Given the description of an element on the screen output the (x, y) to click on. 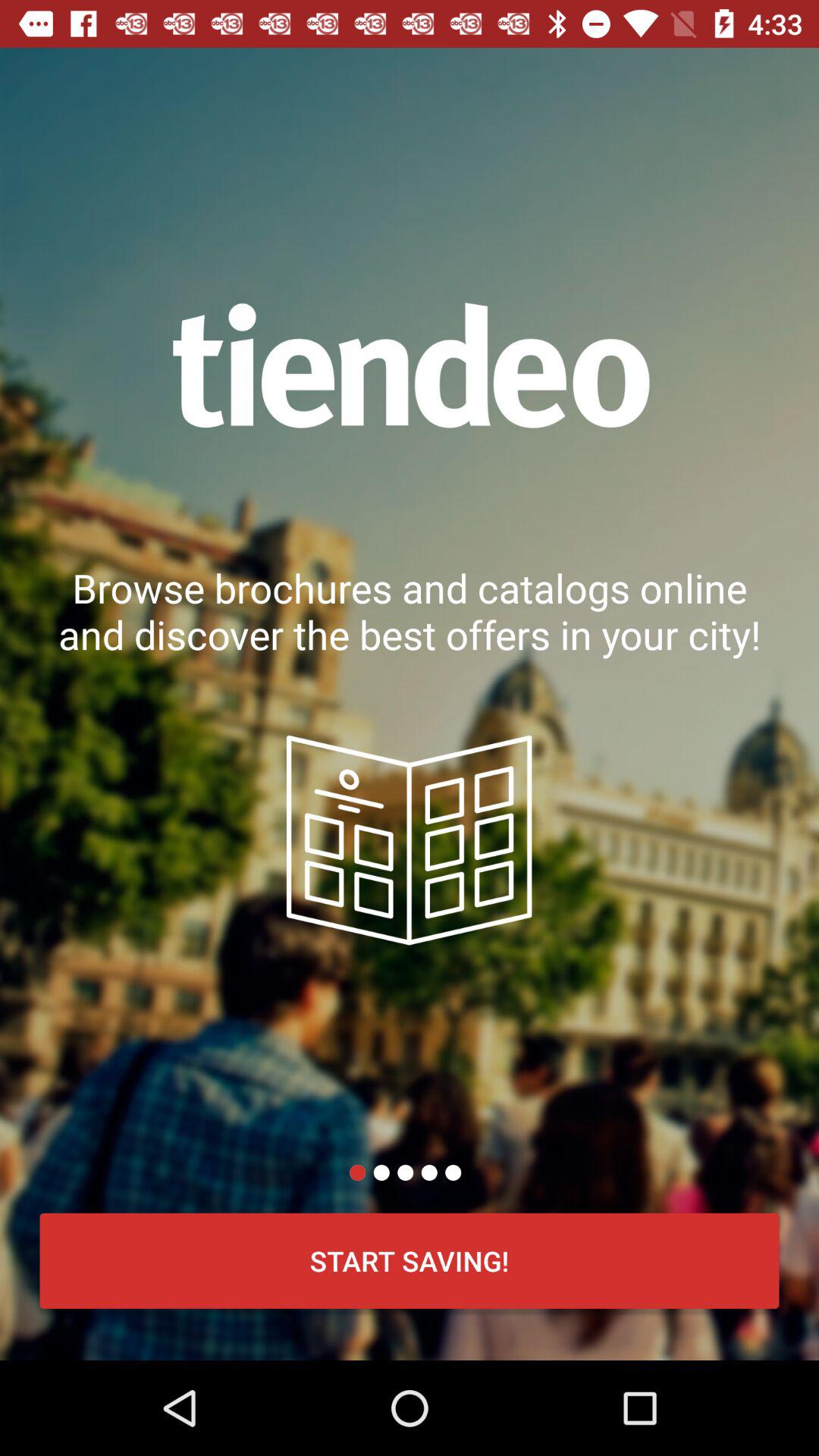
select start saving! (409, 1260)
